Given the description of an element on the screen output the (x, y) to click on. 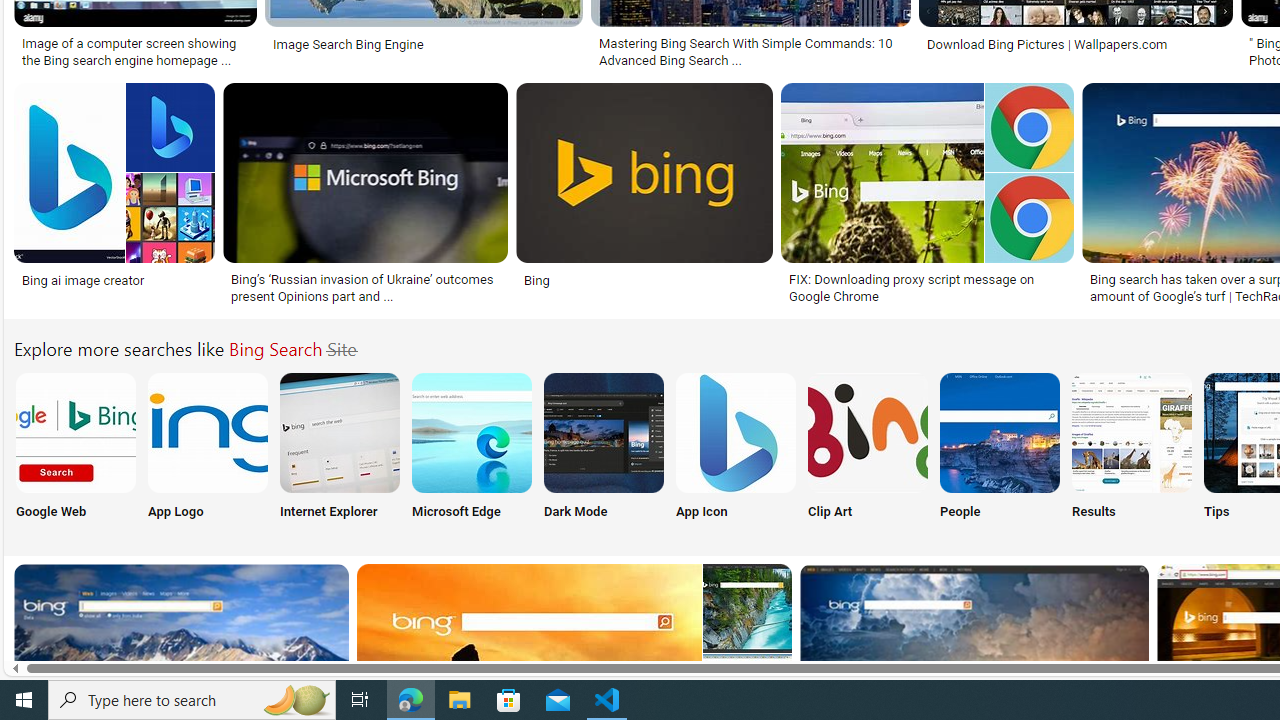
Bing Search App Icon App Icon (735, 450)
FIX: Downloading proxy script message on Google Chrome (927, 287)
Image result for Bing Search Site (644, 172)
FIX: Downloading proxy script message on Google ChromeSave (930, 196)
Bing People Search People (999, 450)
Image Search Bing Engine (423, 44)
Dark Mode (604, 450)
Internet Explorer Bing Search Internet Explorer (339, 450)
Bing Clip ART SEARCH Clip Art (867, 450)
Image Search Bing Engine (347, 44)
Image result for Bing Search Site (747, 608)
Internet Explorer (339, 450)
FIX: Downloading proxy script message on Google Chrome (927, 287)
